Given the description of an element on the screen output the (x, y) to click on. 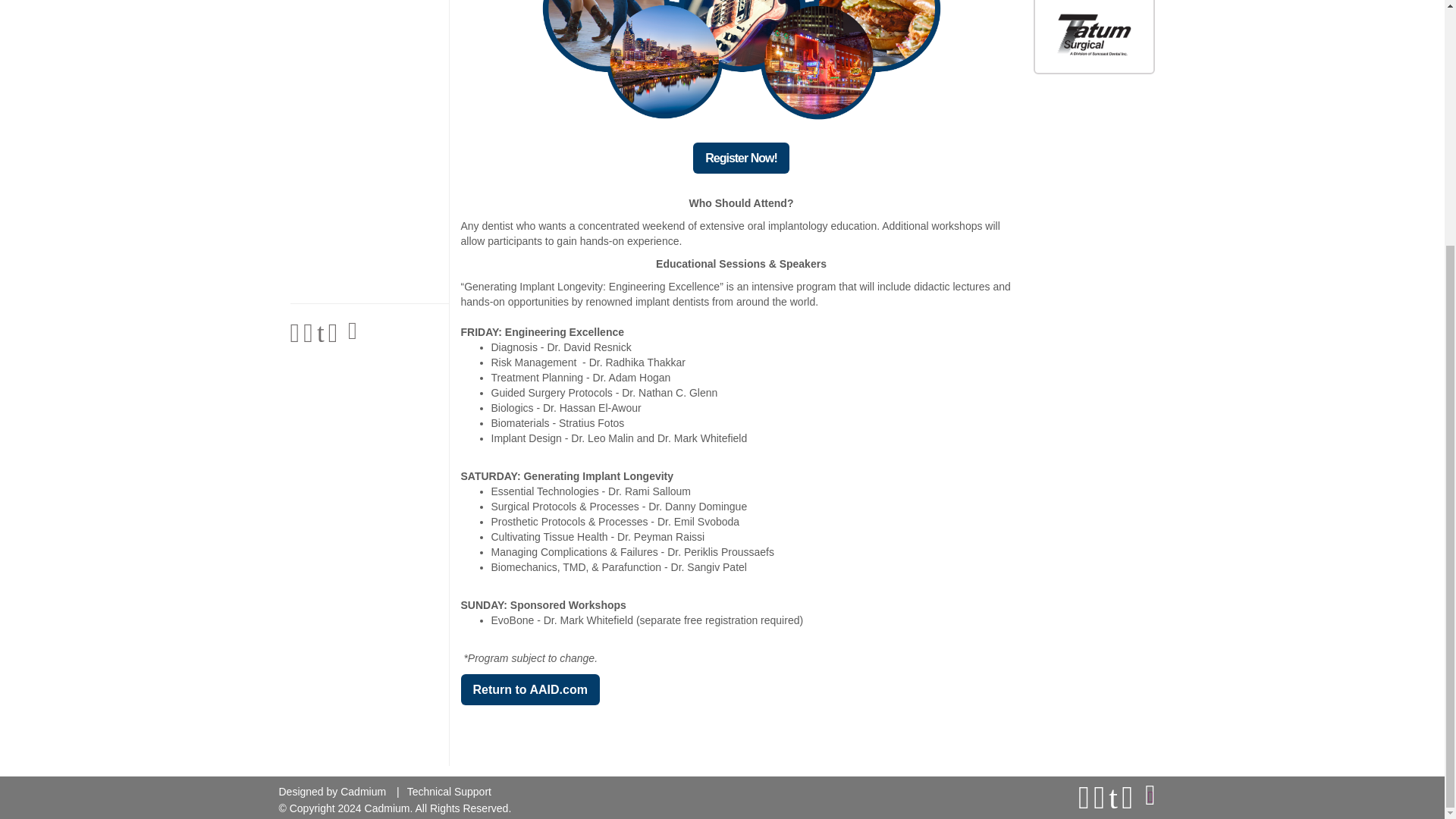
Return to AAID.com (530, 689)
Website link (1151, 456)
Cadmium (362, 450)
Technical Support (449, 450)
Register Now! (741, 157)
